Given the description of an element on the screen output the (x, y) to click on. 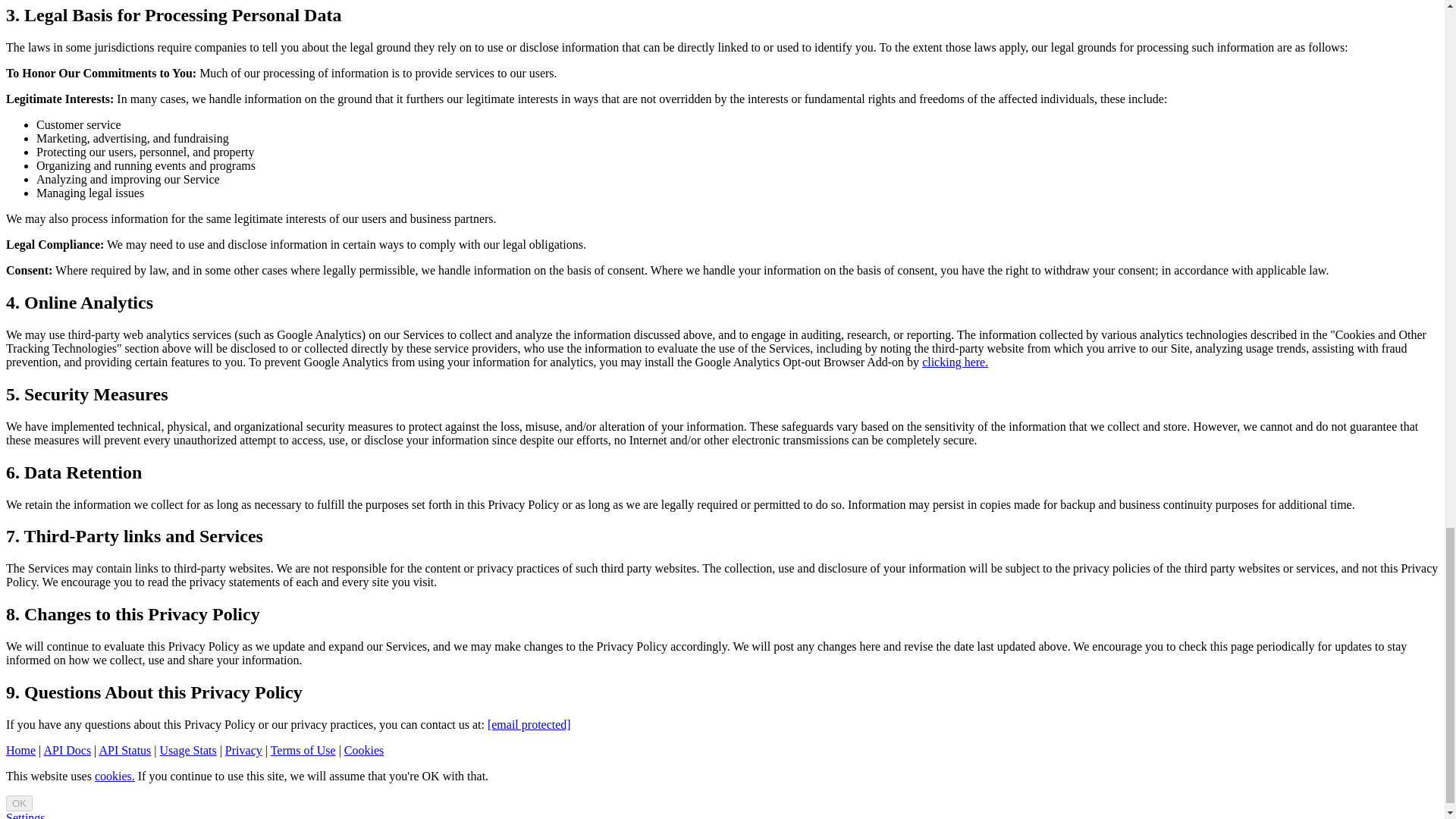
Privacy (243, 749)
API Status (125, 749)
cookies. (114, 775)
Our privacy policy (243, 749)
Stats and analytics (188, 749)
Terms of Use (303, 749)
API Docs (66, 749)
Bad thing happen? (125, 749)
OK (18, 803)
Homepage (19, 749)
